Given the description of an element on the screen output the (x, y) to click on. 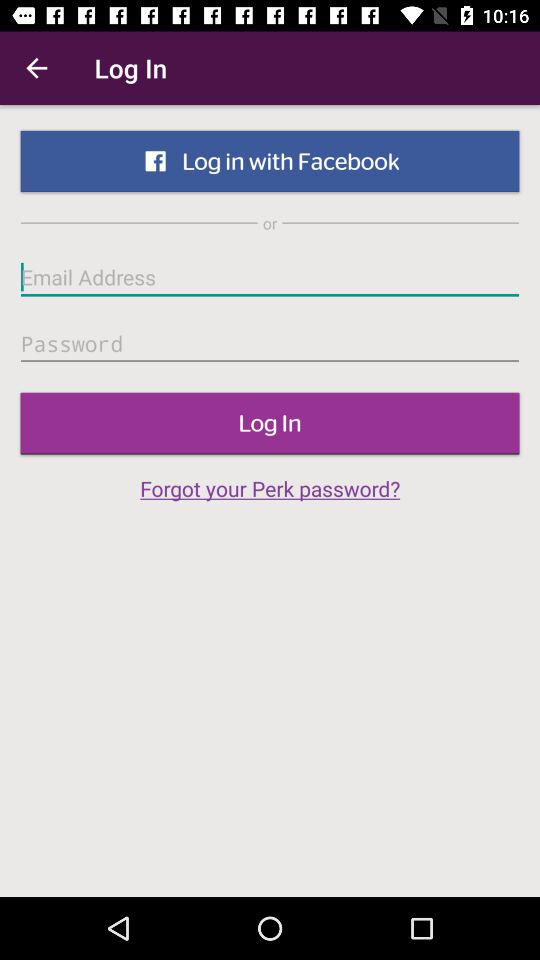
enter password (269, 344)
